Given the description of an element on the screen output the (x, y) to click on. 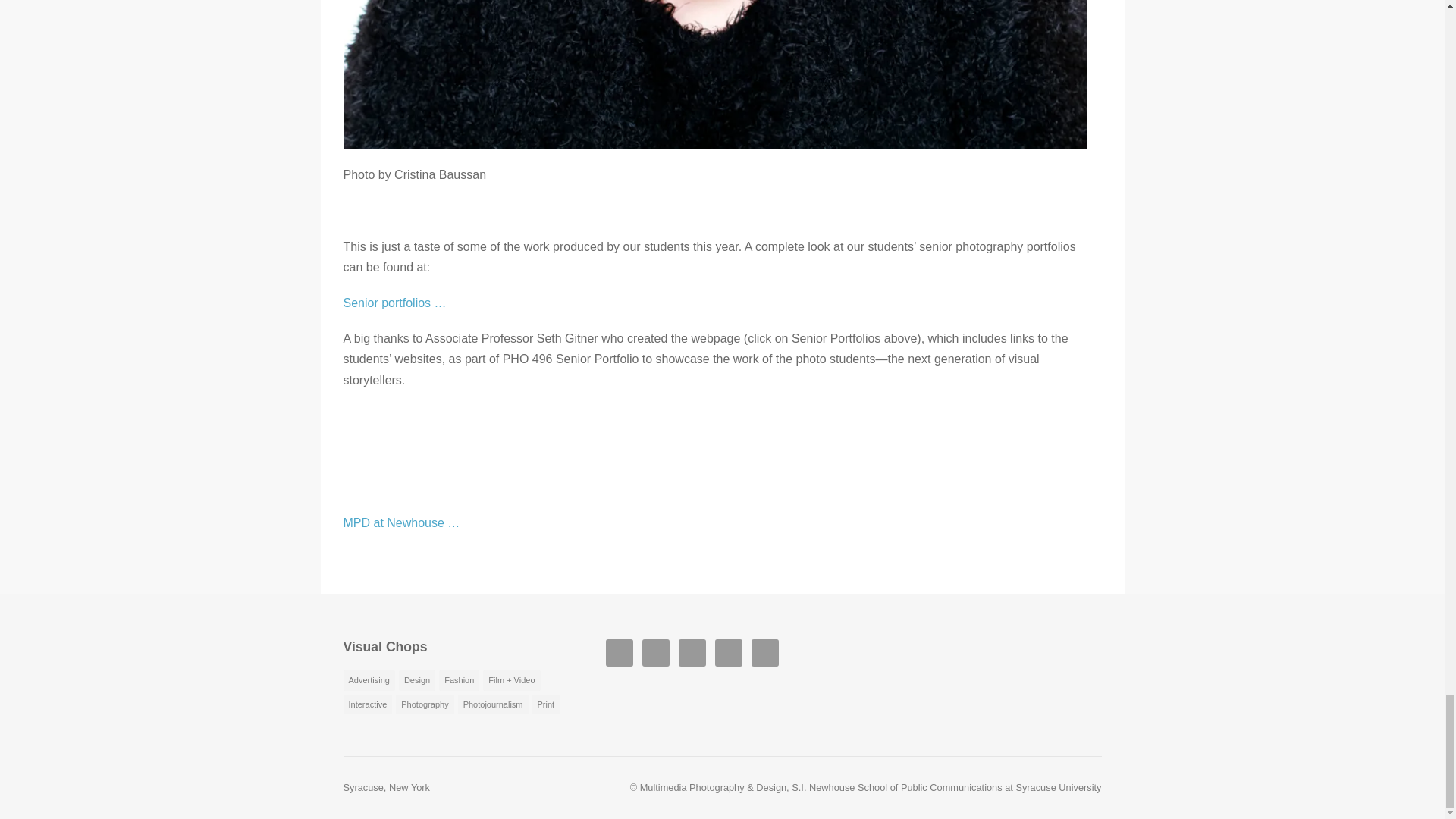
Print (546, 704)
Design (416, 680)
Photography (424, 704)
Fashion (459, 680)
Advertising (368, 680)
Interactive (366, 704)
Photojournalism (493, 704)
